Given the description of an element on the screen output the (x, y) to click on. 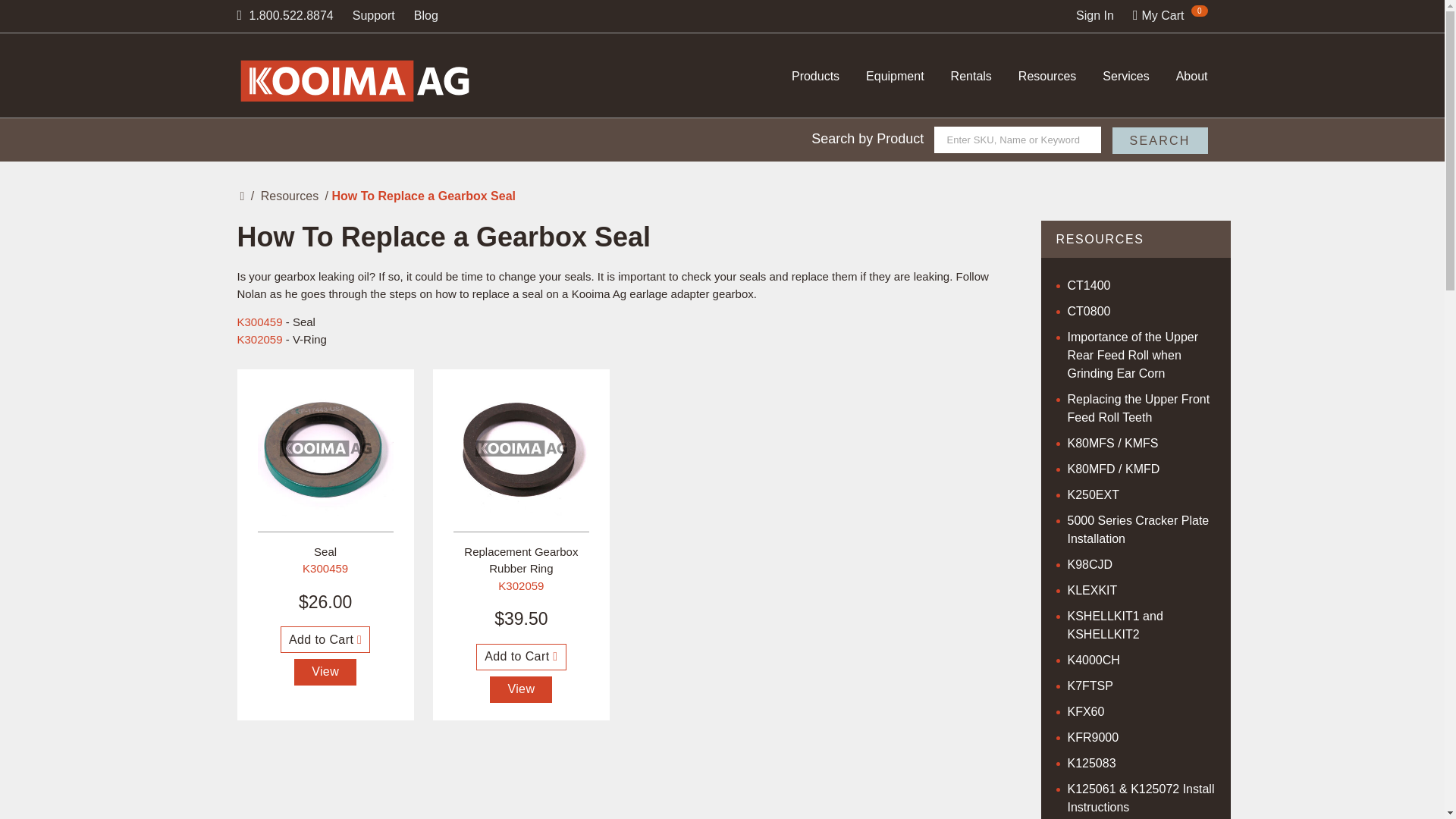
Resources (1046, 76)
Products (816, 76)
YouTube video player (618, 785)
Equipment (895, 76)
Rentals (970, 76)
